Given the description of an element on the screen output the (x, y) to click on. 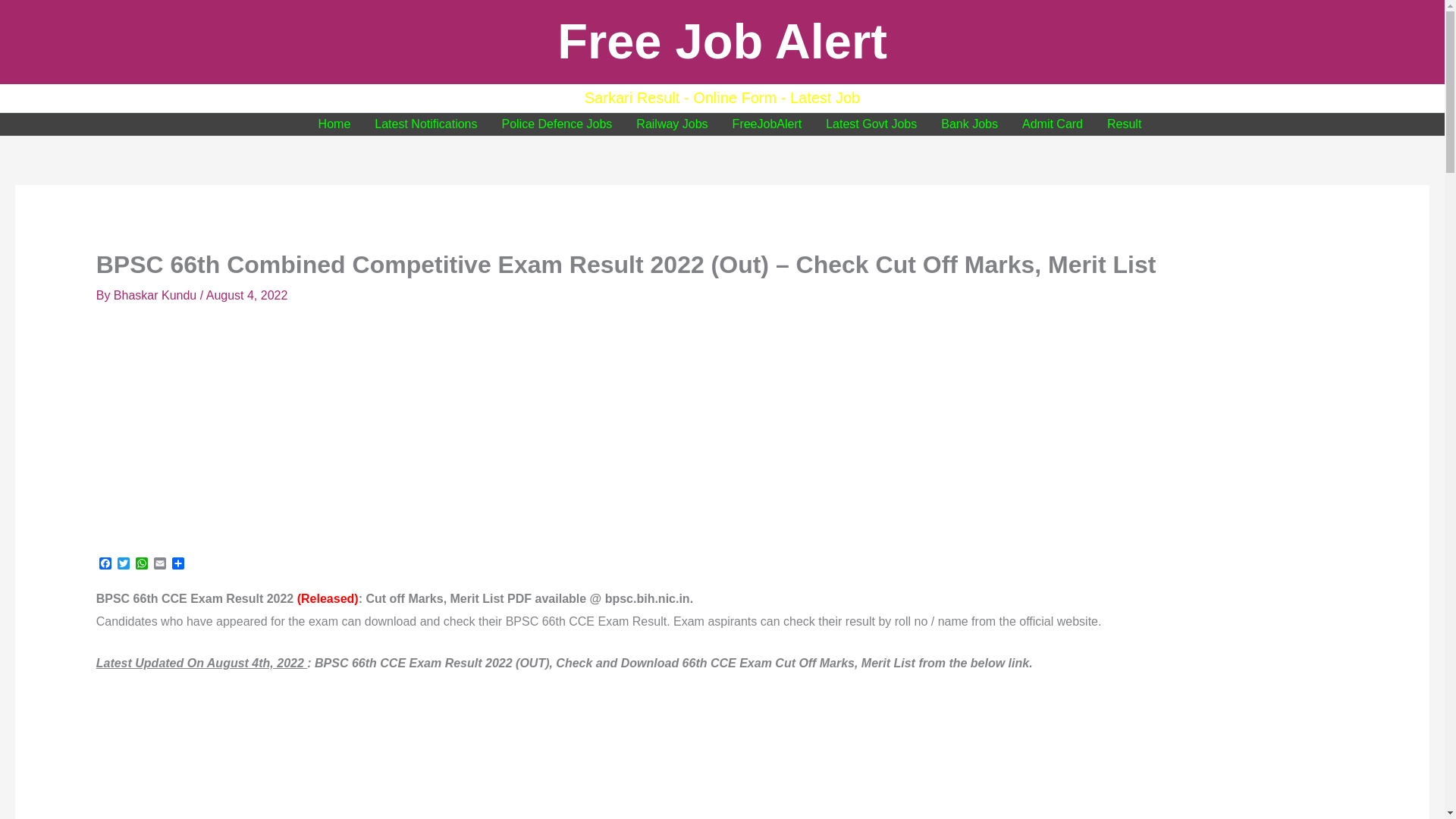
Result (1123, 124)
Police Defence Jobs (556, 124)
Share (177, 564)
Facebook (105, 564)
Admit Card (1052, 124)
Facebook (105, 564)
Free Job Alert (721, 40)
Email (159, 564)
Latest Govt Jobs (870, 124)
Twitter (123, 564)
FreeJobAlert (766, 124)
View all posts by Bhaskar Kundu (156, 295)
Twitter (123, 564)
Bank Jobs (969, 124)
